Given the description of an element on the screen output the (x, y) to click on. 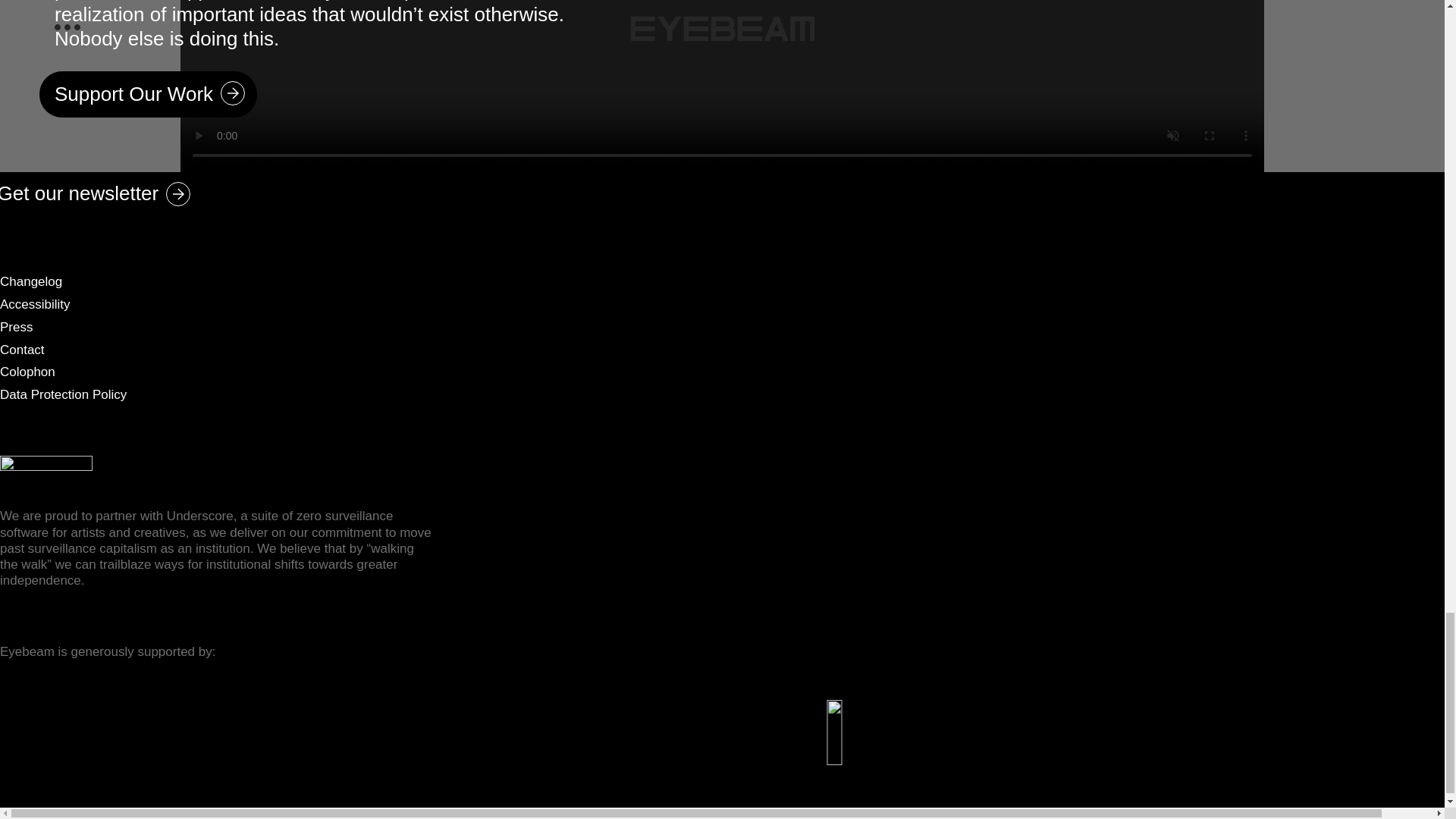
Contact (22, 350)
Press (16, 327)
Support Our Work (148, 94)
Get our newsletter (101, 194)
Changelog (31, 281)
Data Protection Policy (63, 394)
Colophon (27, 371)
Accessibility (34, 304)
